Given the description of an element on the screen output the (x, y) to click on. 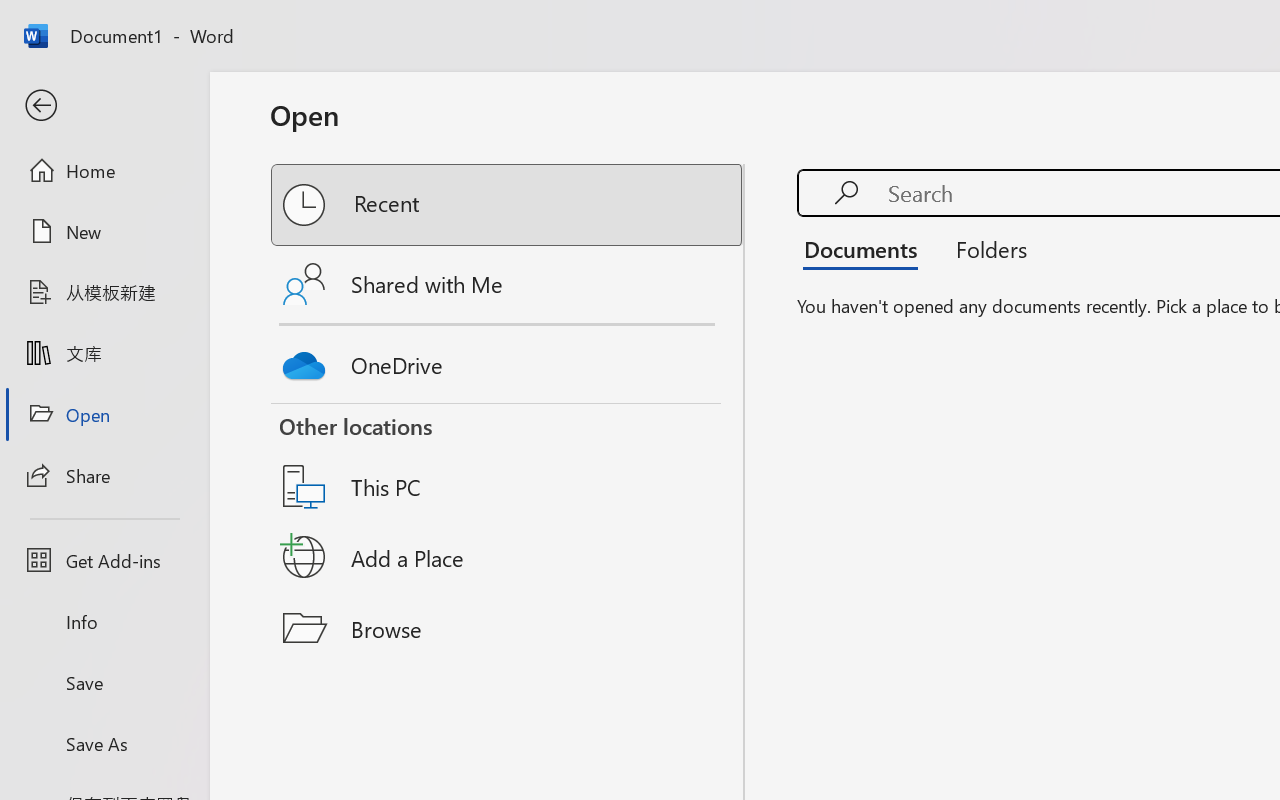
Add a Place (507, 557)
Documents (866, 248)
OneDrive (507, 359)
Browse (507, 627)
Folders (984, 248)
This PC (507, 461)
Shared with Me (507, 283)
Get Add-ins (104, 560)
Info (104, 621)
Save As (104, 743)
